Given the description of an element on the screen output the (x, y) to click on. 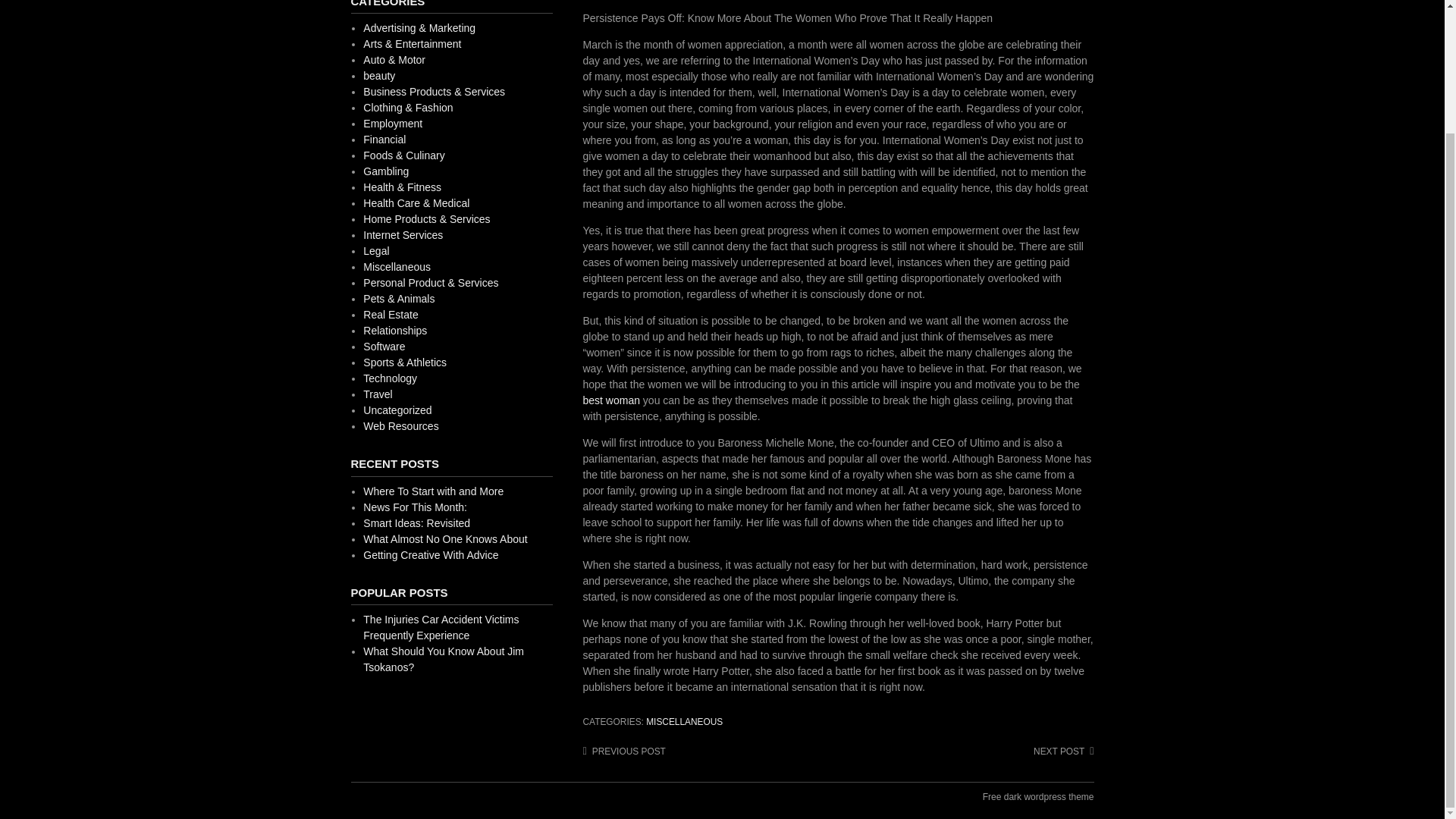
Miscellaneous (396, 266)
Internet Services (402, 234)
Uncategorized (396, 410)
Legal (375, 250)
Software (383, 346)
best woman (610, 399)
beauty (378, 75)
What Should You Know About Jim Tsokanos? (443, 659)
The Injuries Car Accident Victims Frequently Experience (440, 627)
News For This Month: (414, 507)
Gambling (385, 171)
Employment (392, 123)
Relationships (394, 330)
Travel (376, 394)
MISCELLANEOUS (684, 721)
